Given the description of an element on the screen output the (x, y) to click on. 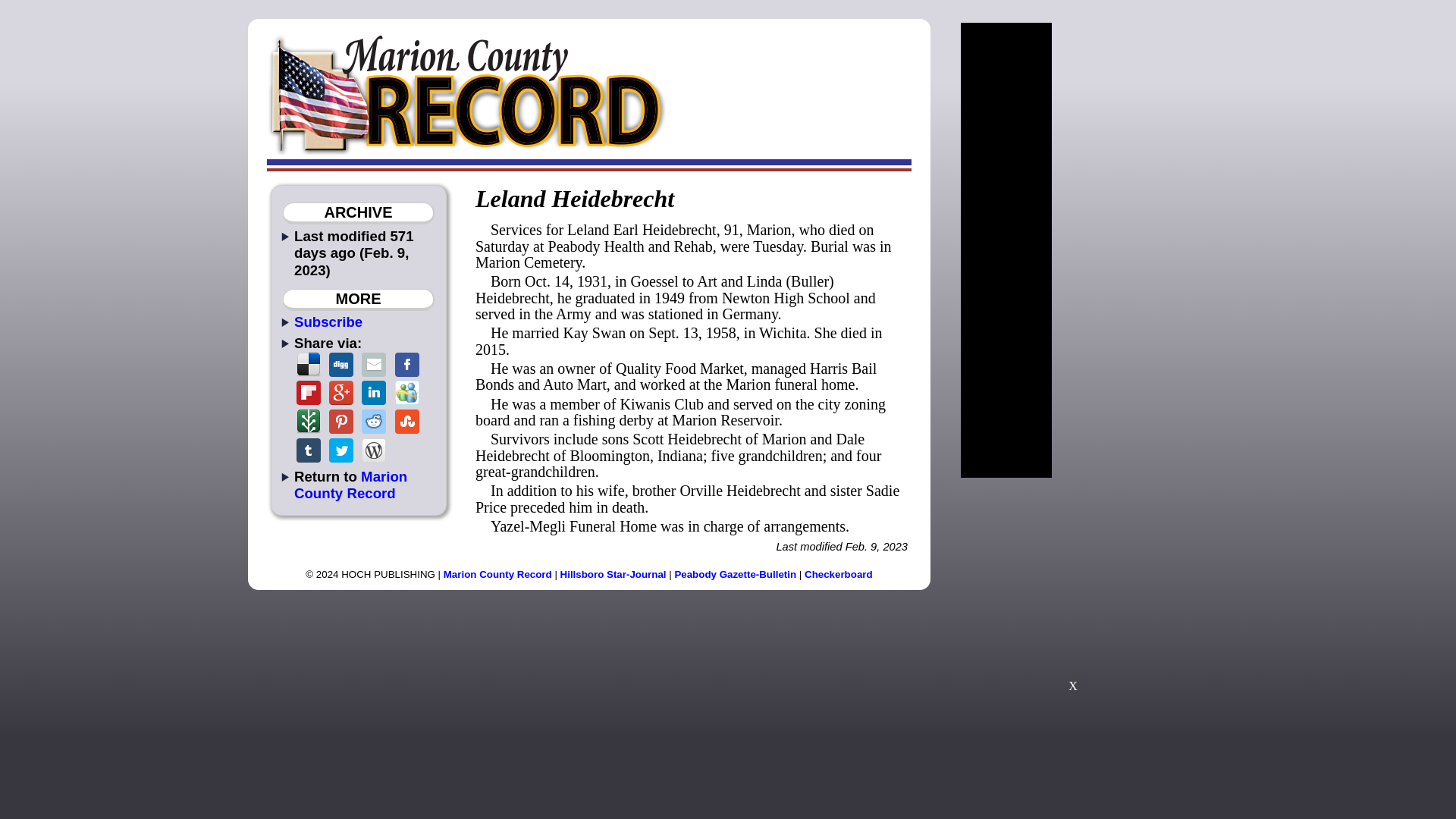
Subscribe (328, 321)
Advertisement (1072, 591)
Hillsboro Star-Journal (613, 573)
Marion County Record (350, 484)
Marion County Record (497, 573)
Checkerboard (838, 573)
Peabody Gazette-Bulletin (735, 573)
